Given the description of an element on the screen output the (x, y) to click on. 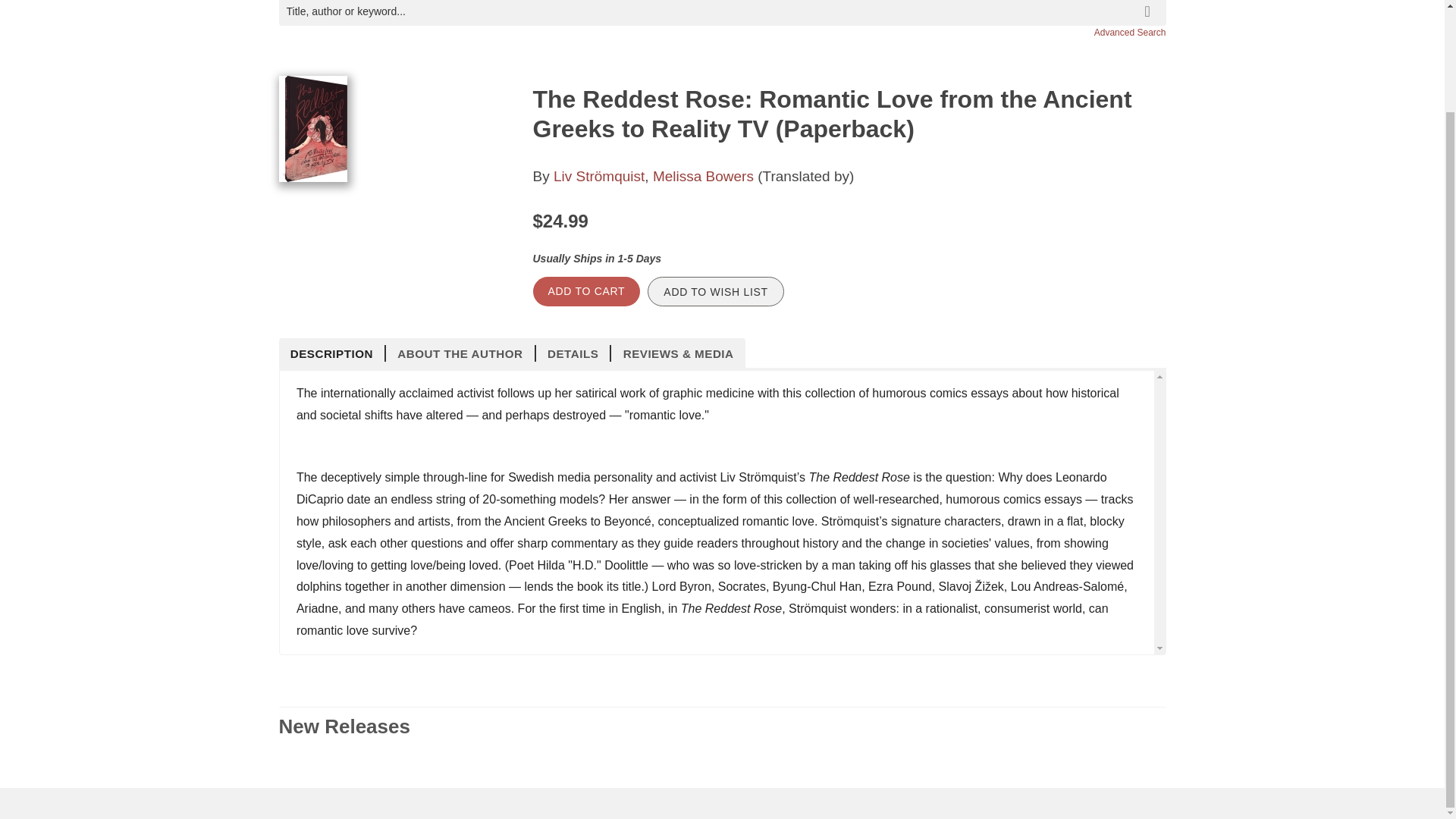
Advanced Search (1130, 32)
Title, author or keyword... (722, 12)
search (1150, 6)
Add to Cart (586, 291)
